Given the description of an element on the screen output the (x, y) to click on. 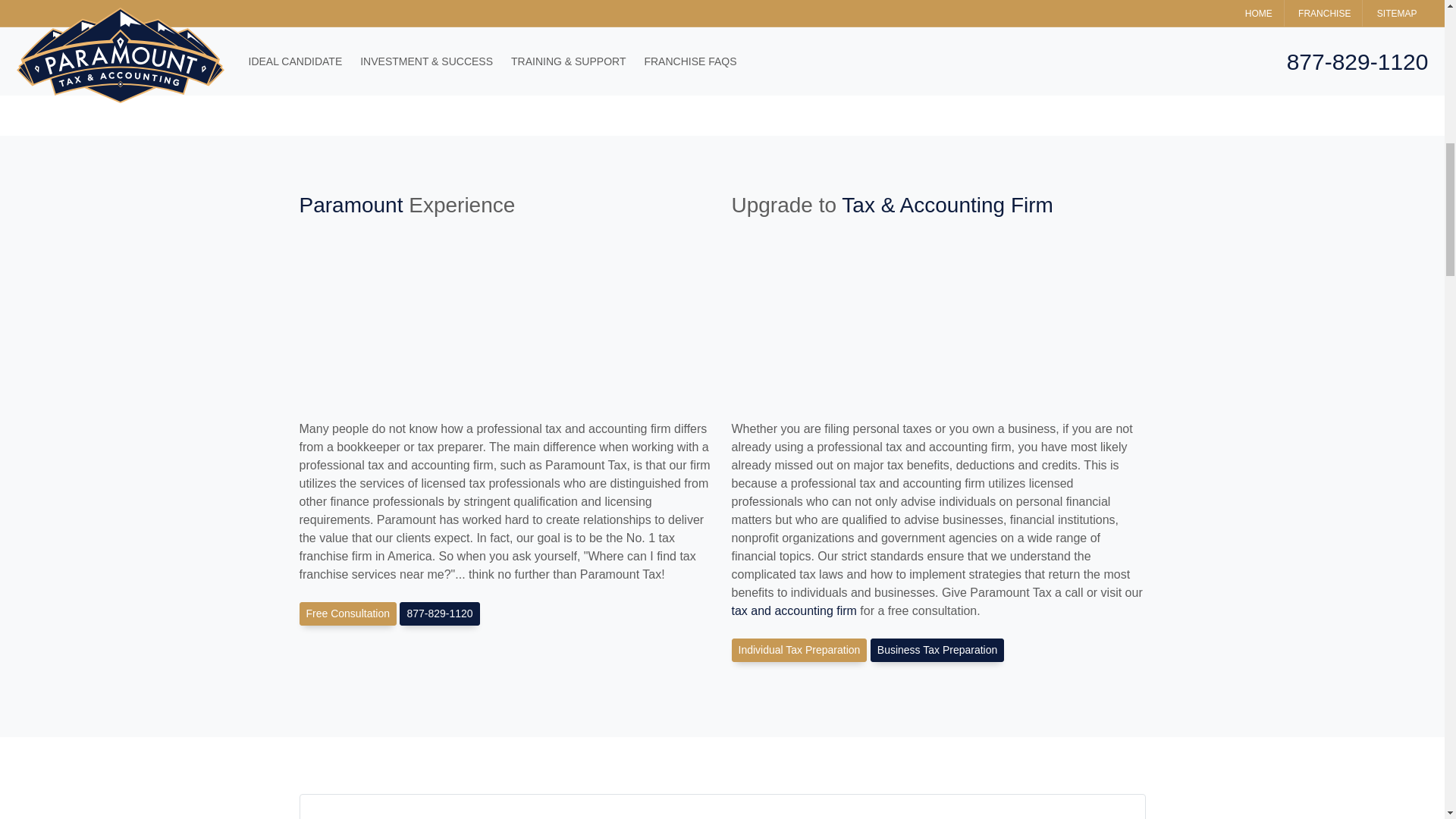
Utah tax preparation franchise (937, 649)
877-829-1120 (438, 613)
Individual Tax Preparation (798, 649)
Utah tax franchise Free Consultation (347, 613)
Tax Preparation Franchise (962, 30)
tax and accounting firm (793, 610)
bookkeeping Franchise (721, 806)
personal tax preparation Utah (798, 649)
tax accountant Paramount Tax (438, 613)
Free Consultation (347, 613)
Business Tax Preparation (937, 649)
tax firm for sale (793, 610)
